Given the description of an element on the screen output the (x, y) to click on. 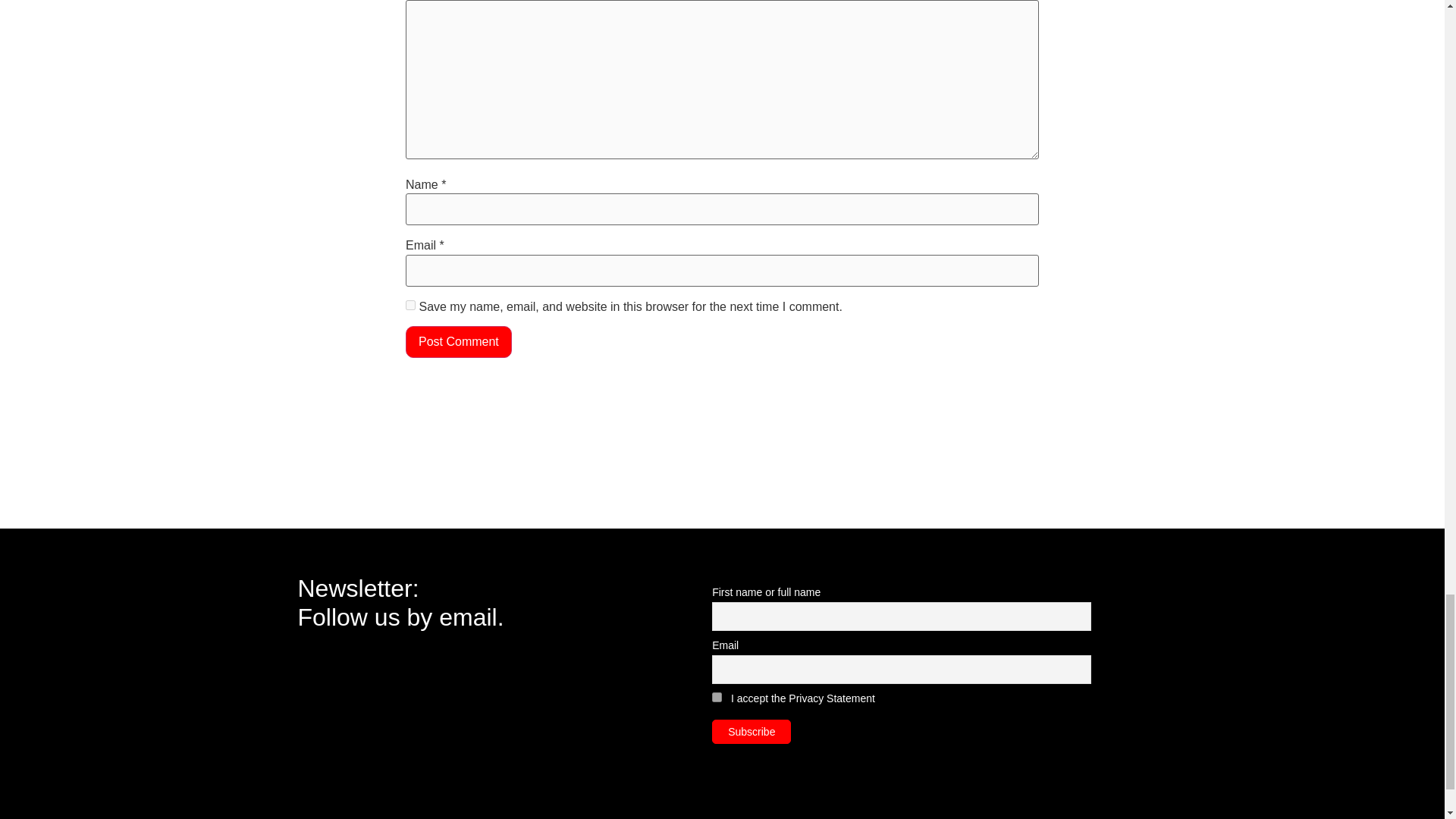
on (716, 696)
Post Comment (459, 341)
I accept the Privacy Statement (802, 698)
Subscribe (750, 731)
Subscribe (750, 731)
Post Comment (459, 341)
yes (410, 305)
